Given the description of an element on the screen output the (x, y) to click on. 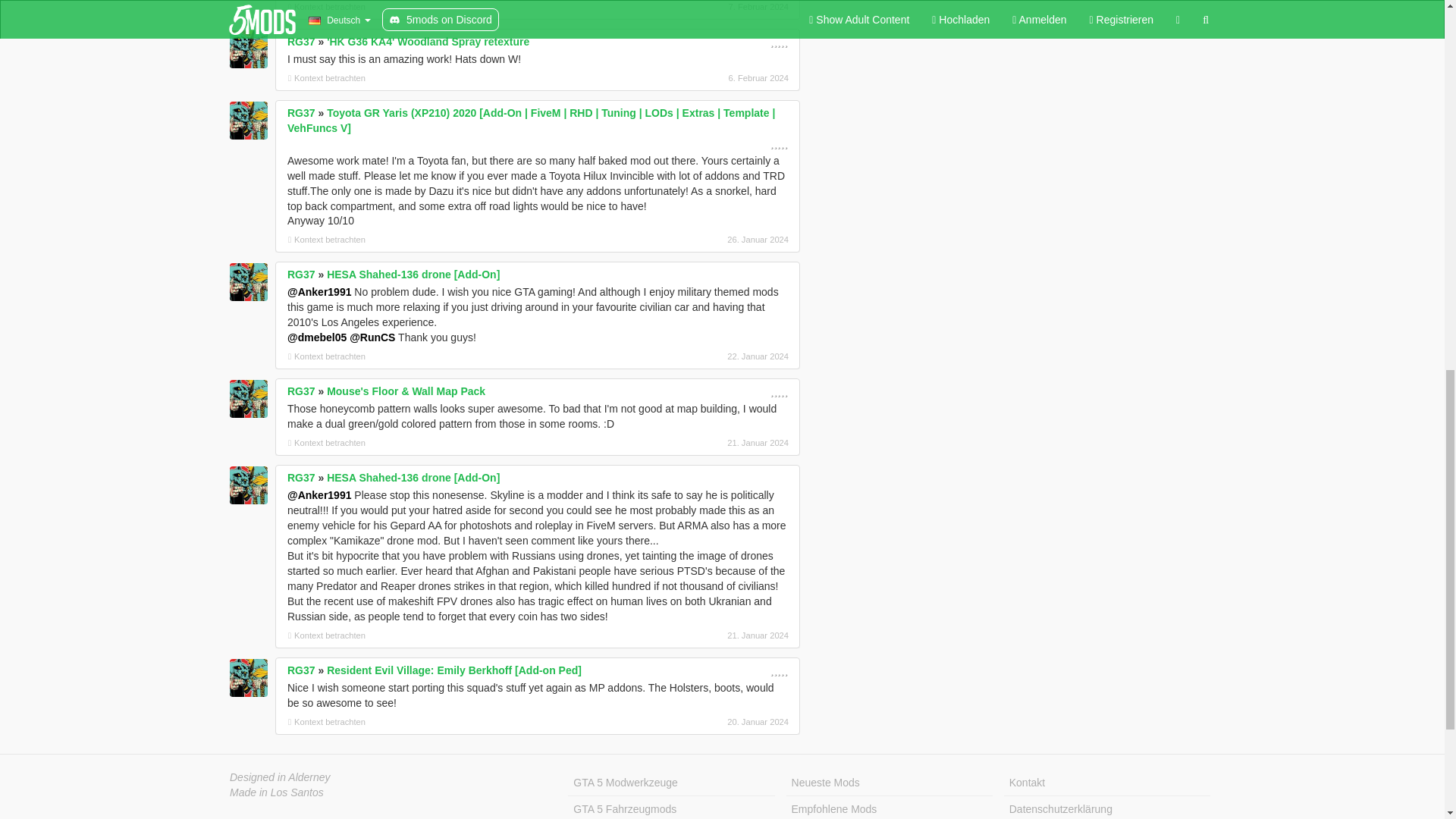
Dienstag, 06. Februar 2024, 09:15 Uhr (708, 78)
Geil! (778, 41)
Geil! (778, 143)
Mittwoch, 07. Februar 2024, 19:50 Uhr (708, 6)
Geil! (772, 41)
Geil! (782, 41)
Geil! (775, 41)
